Given the description of an element on the screen output the (x, y) to click on. 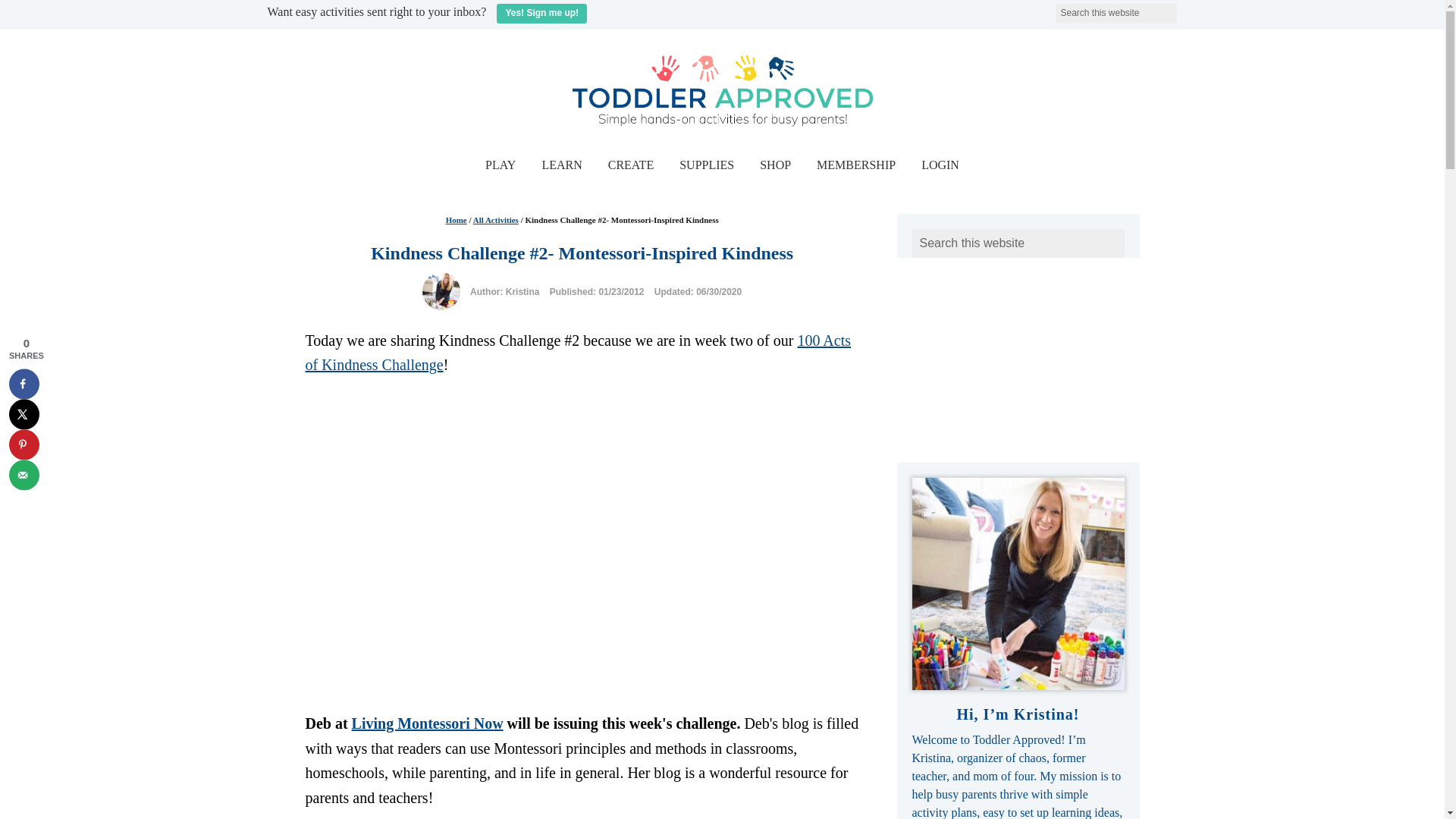
Search (1185, 8)
Search (1185, 8)
Search (1185, 8)
Send over email (23, 474)
Yes! Sign me up! (541, 13)
Share on Facebook (23, 383)
Save to Pinterest (23, 444)
Share on X (23, 413)
